Given the description of an element on the screen output the (x, y) to click on. 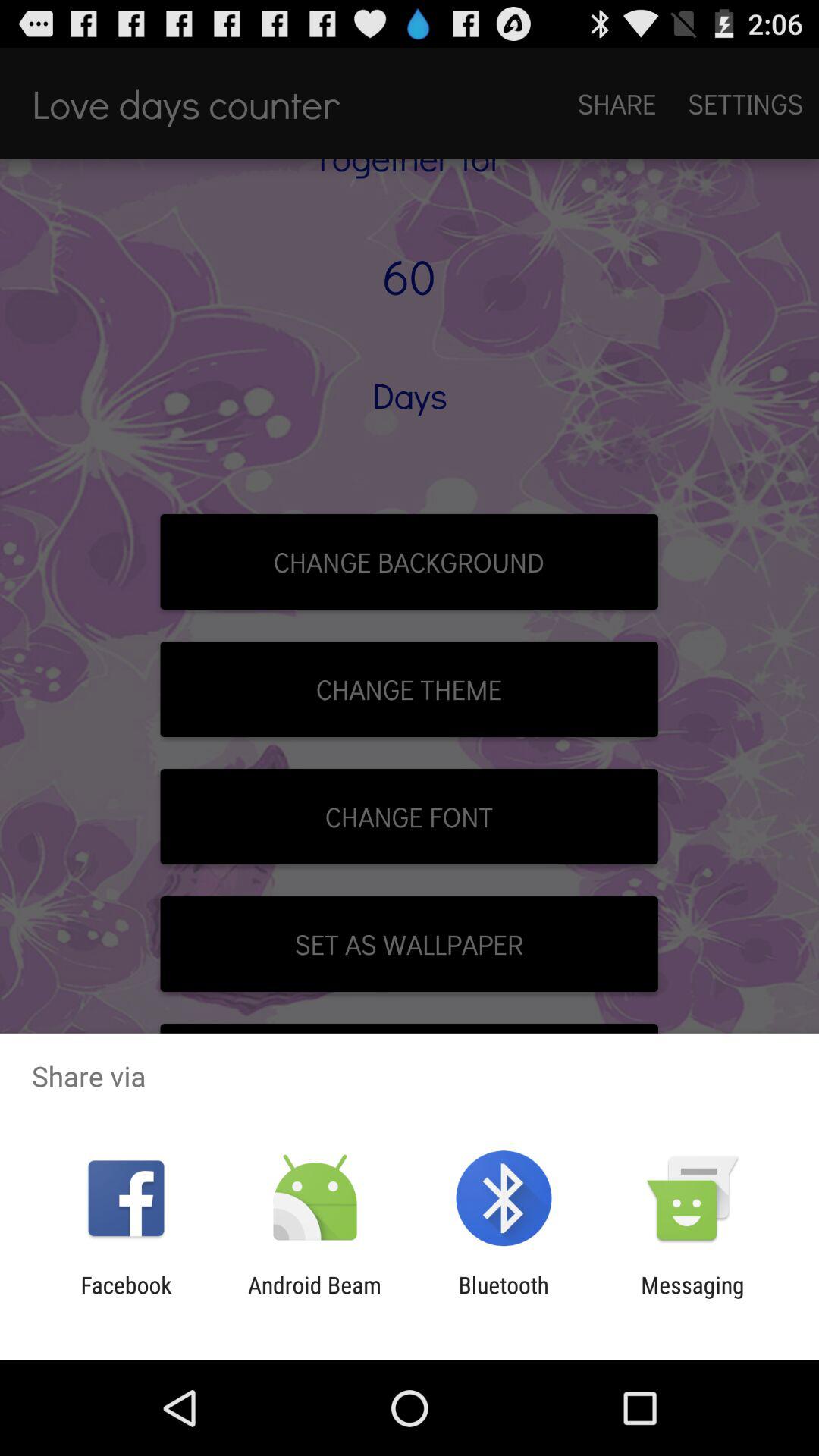
turn off the app to the left of bluetooth (314, 1298)
